Given the description of an element on the screen output the (x, y) to click on. 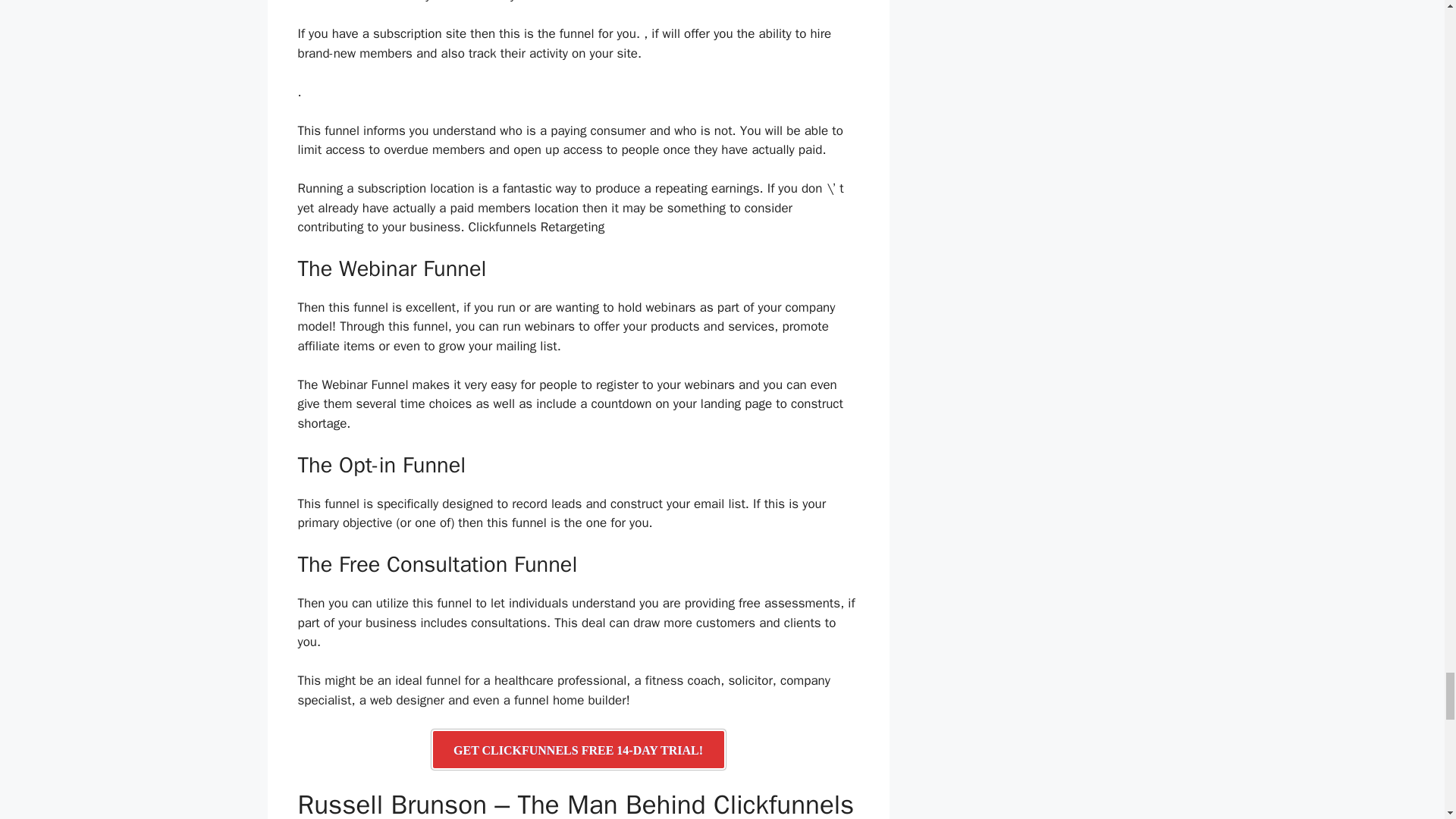
GET CLICKFUNNELS FREE 14-DAY TRIAL! (577, 749)
